Given the description of an element on the screen output the (x, y) to click on. 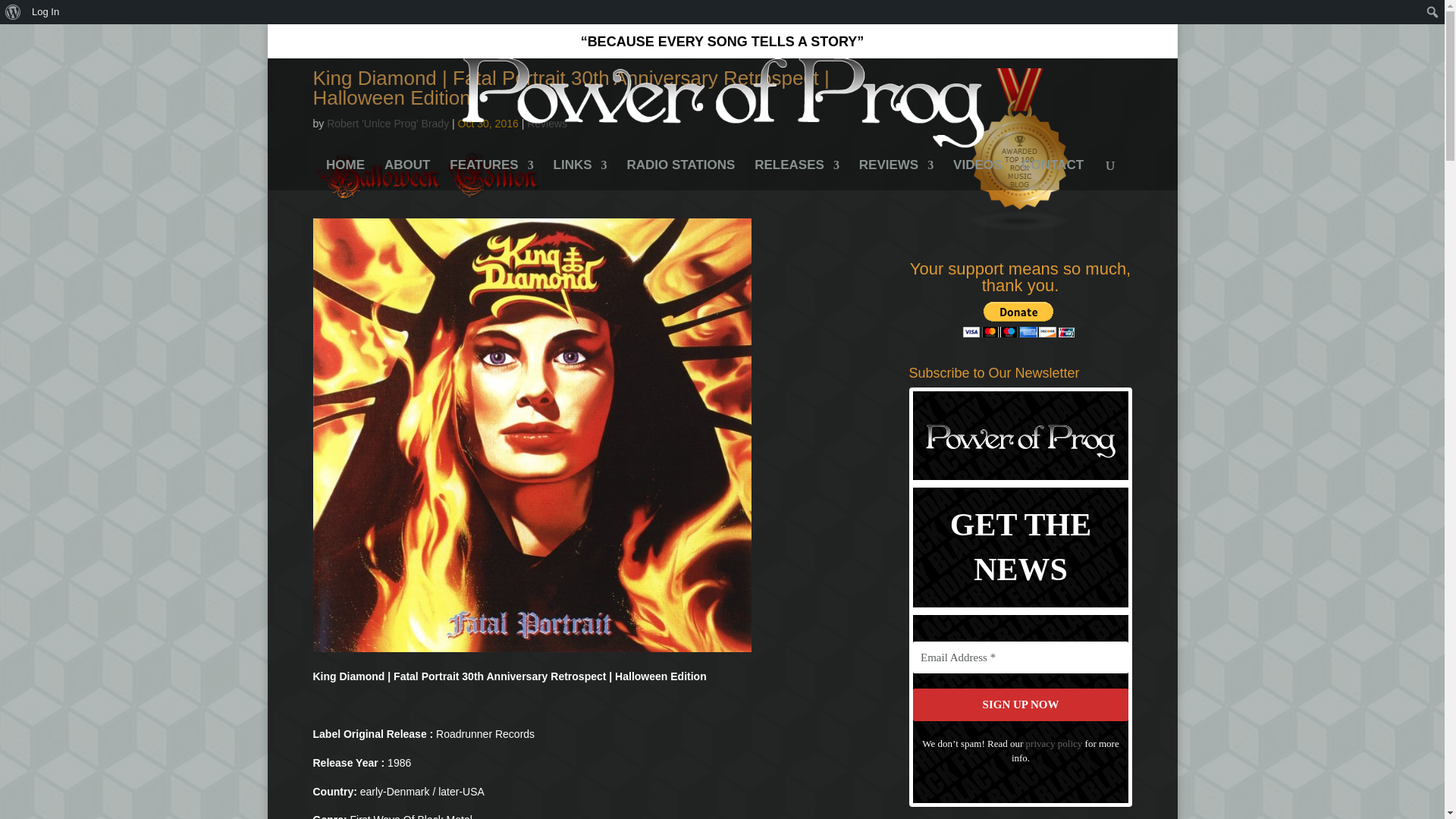
Log In (45, 12)
SIGN UP NOW (1020, 704)
Reviews (547, 123)
VIDEOS (977, 174)
ABOUT (406, 174)
RELEASES (797, 174)
CONTACT (1052, 174)
Robert 'Unlce Prog' Brady (387, 123)
LINKS (580, 174)
Rock Music blogs (1020, 227)
